Given the description of an element on the screen output the (x, y) to click on. 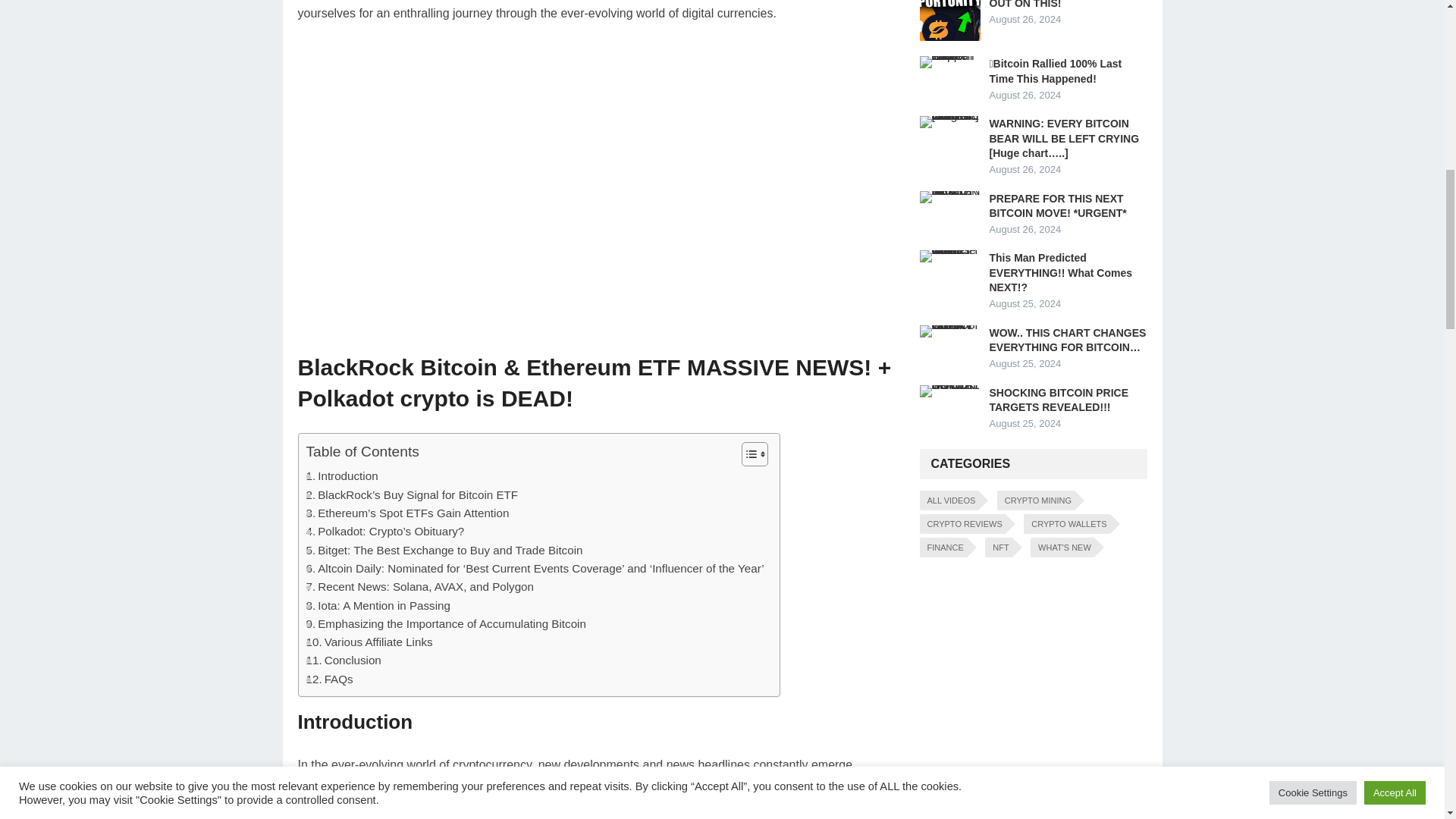
Recent News: Solana, AVAX, and Polygon (419, 587)
Recent News: Solana, AVAX, and Polygon (419, 587)
Iota: A Mention in Passing (378, 606)
Conclusion (343, 660)
Iota: A Mention in Passing (378, 606)
Emphasizing the Importance of Accumulating Bitcoin (445, 624)
Bitget: The Best Exchange to Buy and Trade Bitcoin (444, 550)
FAQs (329, 679)
Introduction (341, 475)
Emphasizing the Importance of Accumulating Bitcoin (445, 624)
